Given the description of an element on the screen output the (x, y) to click on. 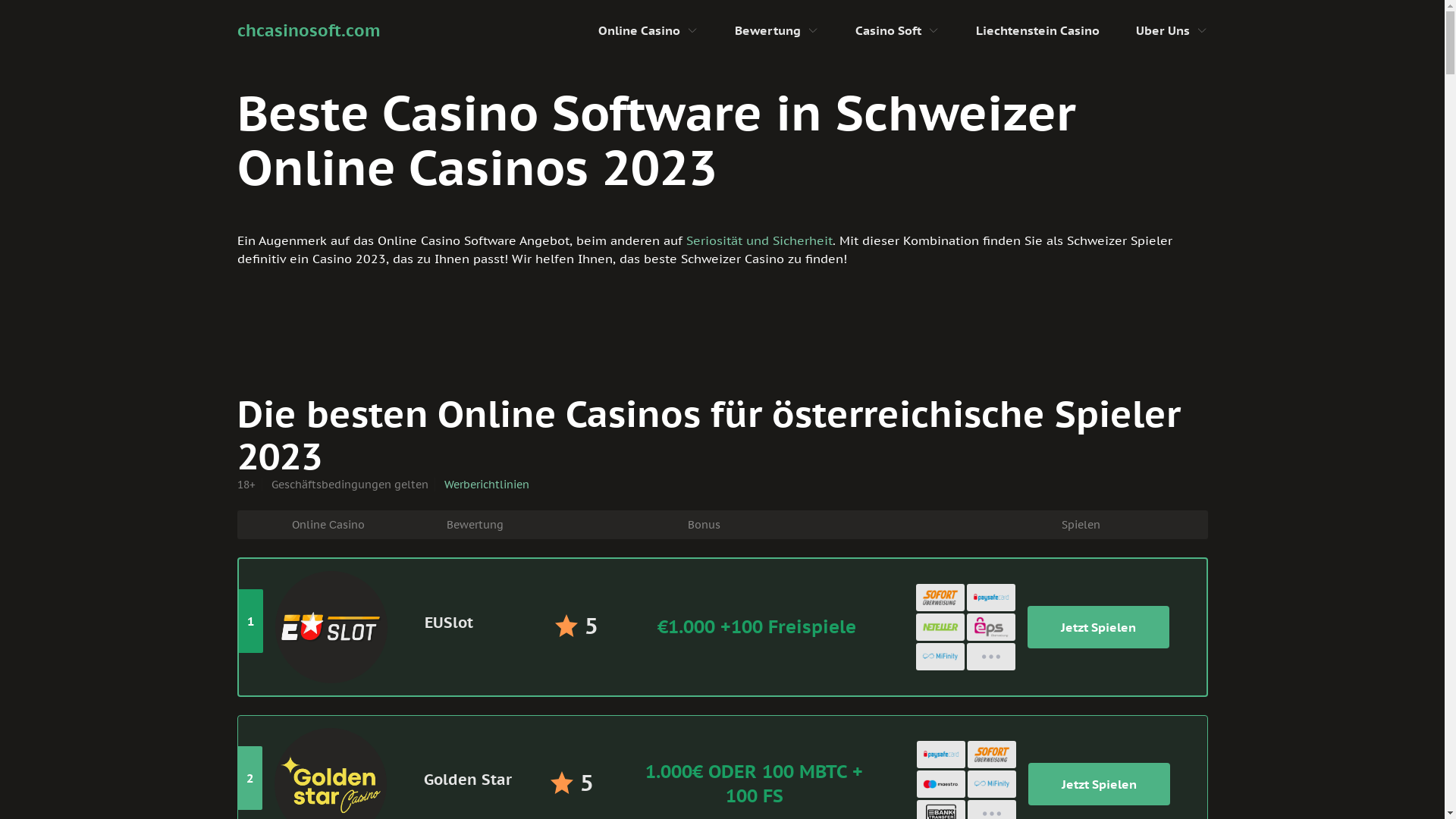
Liechtenstein Casino Element type: text (1036, 30)
chcasinosoft.com Element type: text (307, 29)
Jetzt Spielen Element type: text (1097, 626)
Werberichtlinien Element type: text (486, 484)
Jetzt Spielen Element type: text (1099, 783)
Bewertung Element type: text (767, 30)
Casino Soft Element type: text (888, 30)
Uber Uns Element type: text (1162, 30)
Online Casino Element type: text (638, 30)
